Given the description of an element on the screen output the (x, y) to click on. 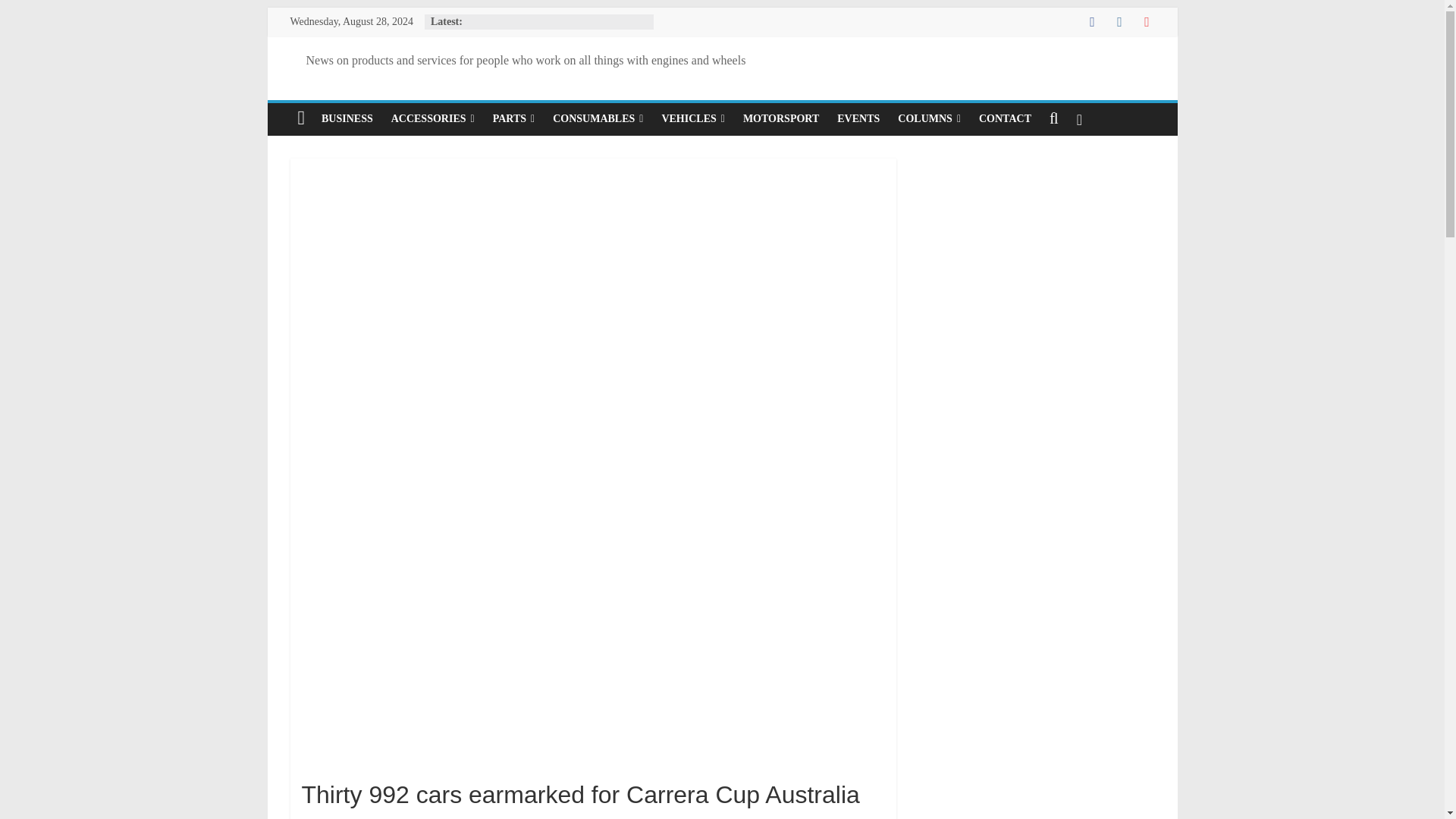
PARTS (513, 119)
EVENTS (858, 119)
ACCESSORIES (432, 119)
BUSINESS (347, 119)
COLUMNS (928, 119)
MOTORSPORT (780, 119)
VEHICLES (692, 119)
CONSUMABLES (597, 119)
